Given the description of an element on the screen output the (x, y) to click on. 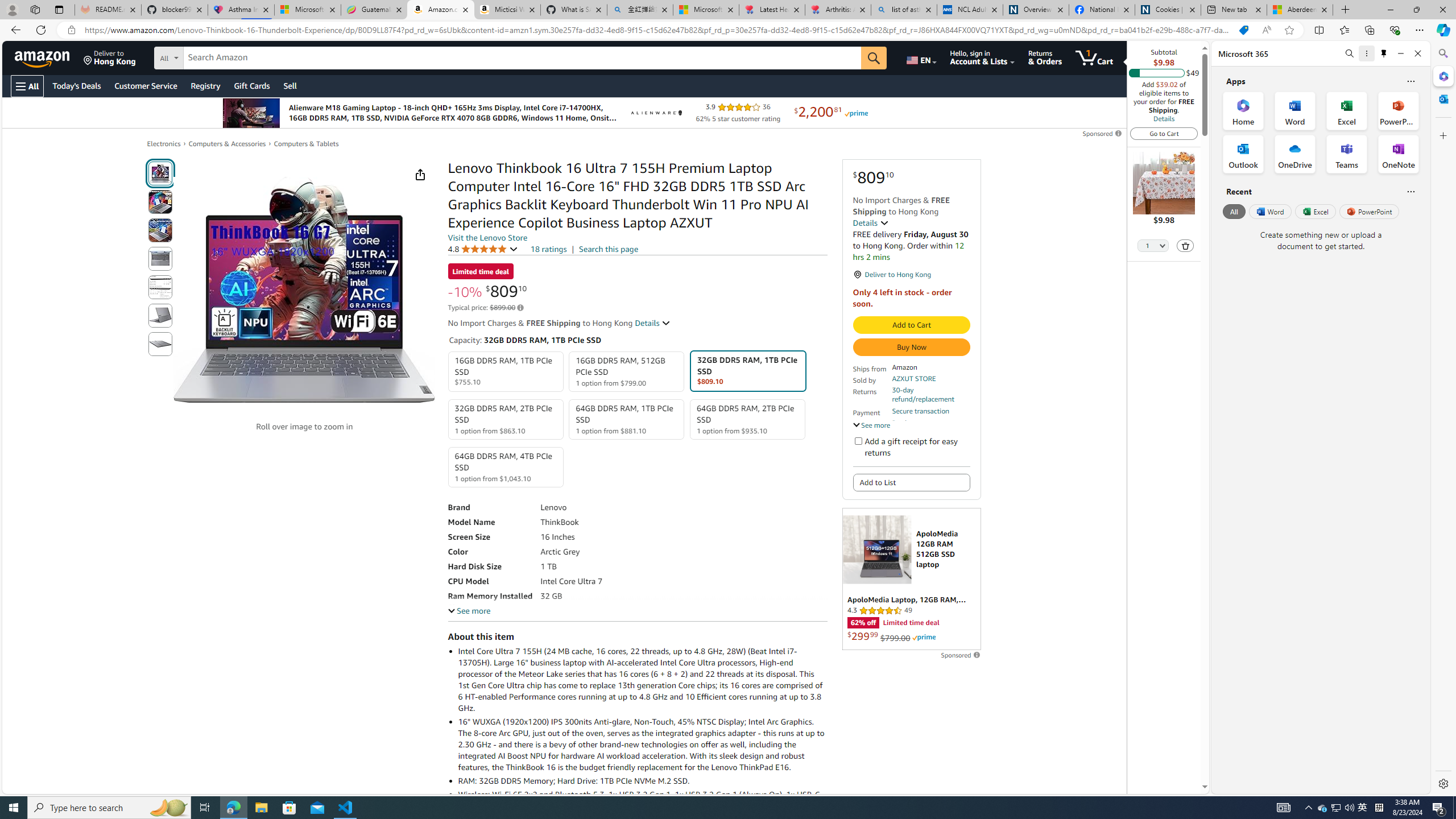
OneNote Office App (1398, 154)
Amazon (43, 57)
Customer Service (145, 85)
Word Office App (1295, 110)
Secure transaction (920, 411)
Visit the Lenovo Store (486, 237)
